Given the description of an element on the screen output the (x, y) to click on. 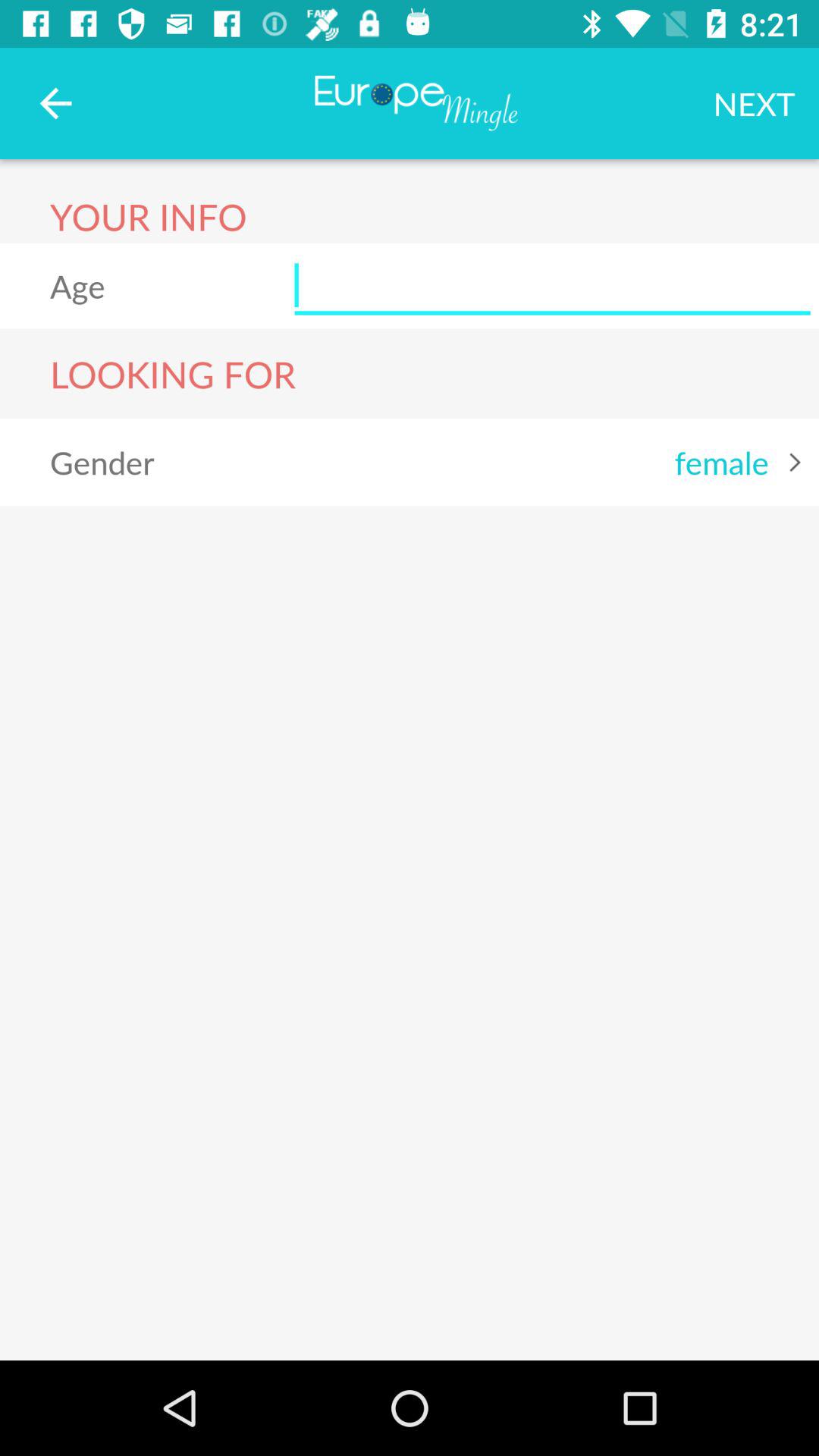
open the item to the right of the age item (552, 285)
